Given the description of an element on the screen output the (x, y) to click on. 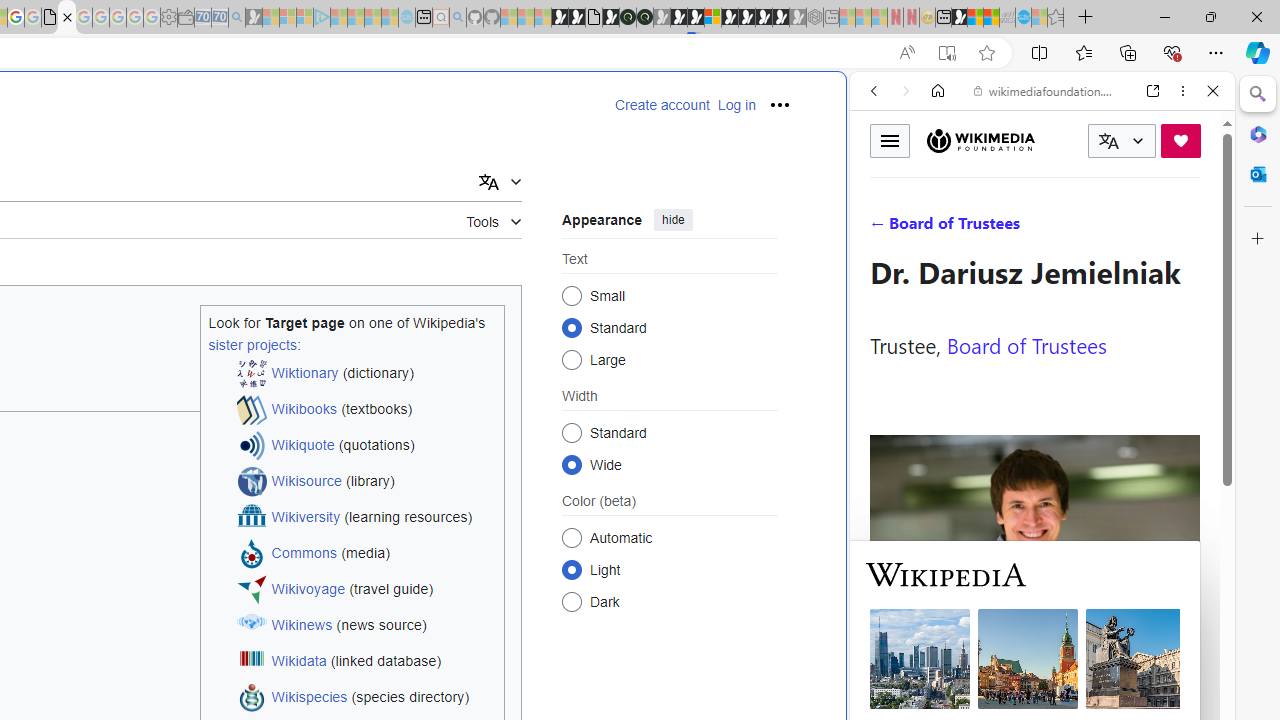
github - Search - Sleeping (457, 17)
Wide (571, 464)
Microsoft Start - Sleeping (372, 17)
Forward (906, 91)
Microsoft Start Gaming - Sleeping (253, 17)
Play Cave FRVR in your browser | Games from Microsoft Start (678, 17)
Tabs you've opened (276, 265)
